Given the description of an element on the screen output the (x, y) to click on. 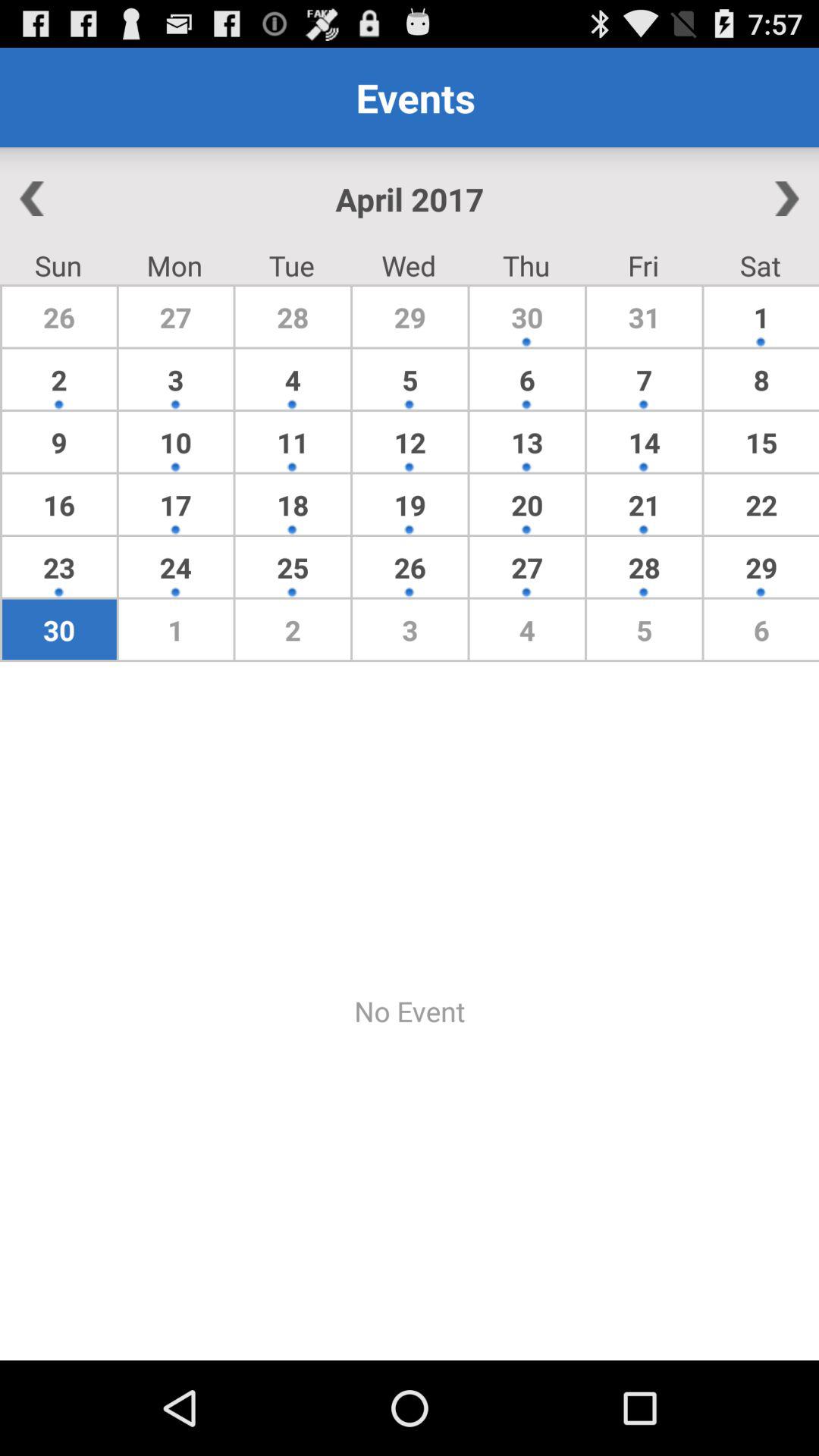
turn on app below the 30 app (409, 1011)
